Given the description of an element on the screen output the (x, y) to click on. 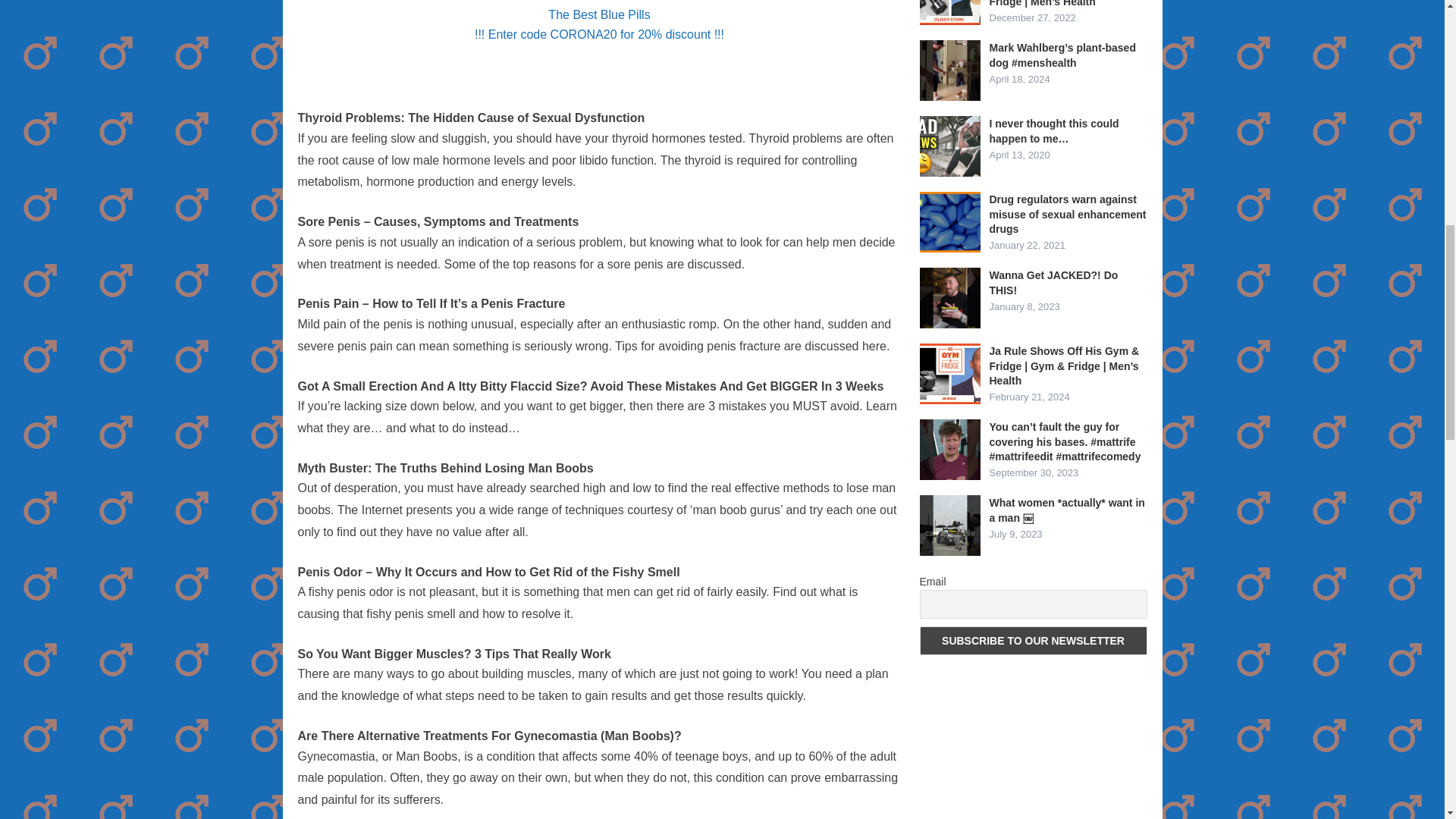
Wanna Get JACKED?! Do THIS! 19 (948, 297)
Subscribe to our newsletter (1032, 640)
I never thought this could happen to me... 17 (948, 146)
The Best Blue Pills (598, 14)
